Given the description of an element on the screen output the (x, y) to click on. 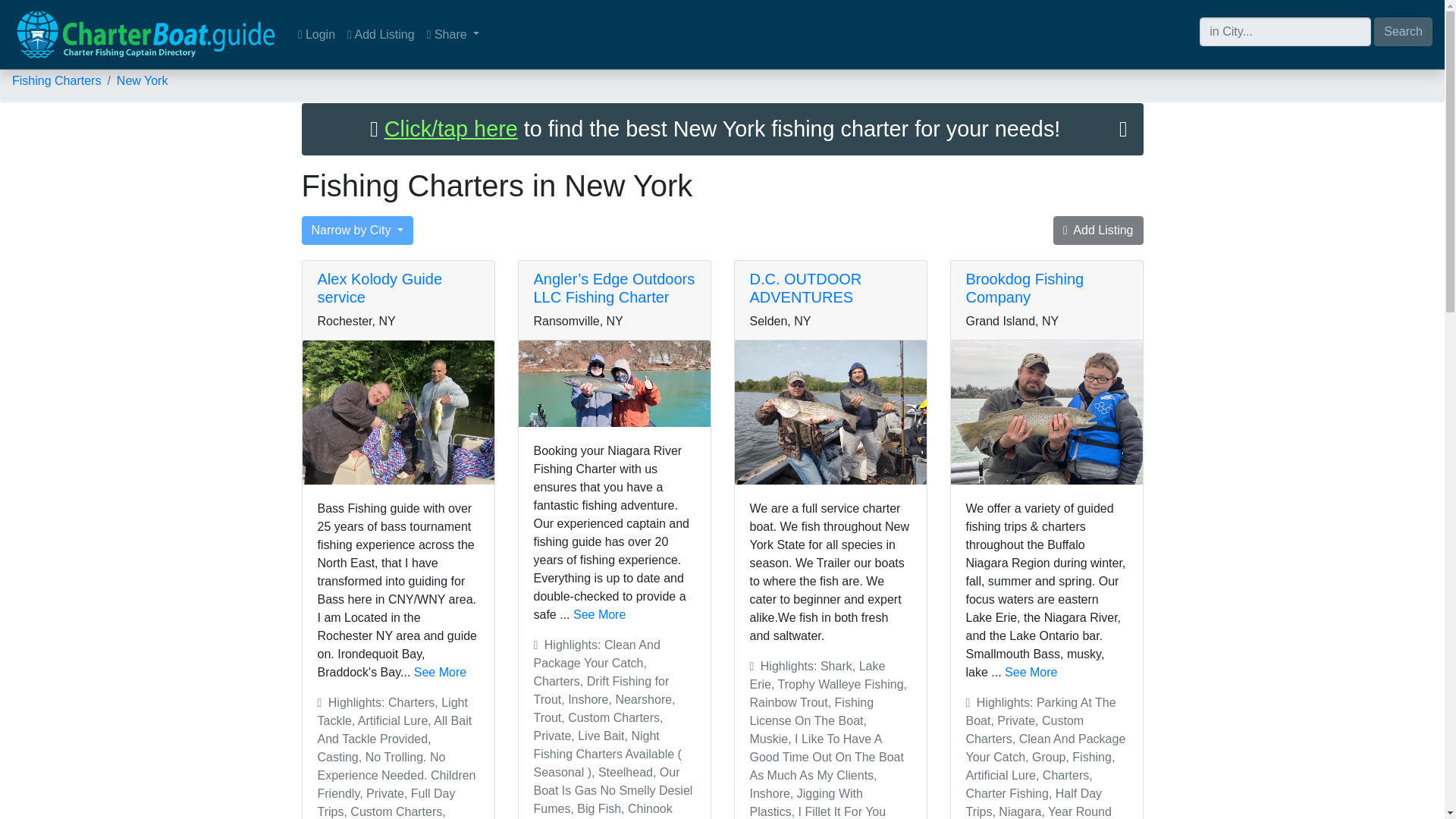
Add Listing (380, 34)
Add Listing (1097, 230)
Fishing Charters (55, 80)
New York (142, 80)
Narrow by City (357, 230)
Login (316, 34)
Share (453, 34)
Search (1403, 30)
